Given the description of an element on the screen output the (x, y) to click on. 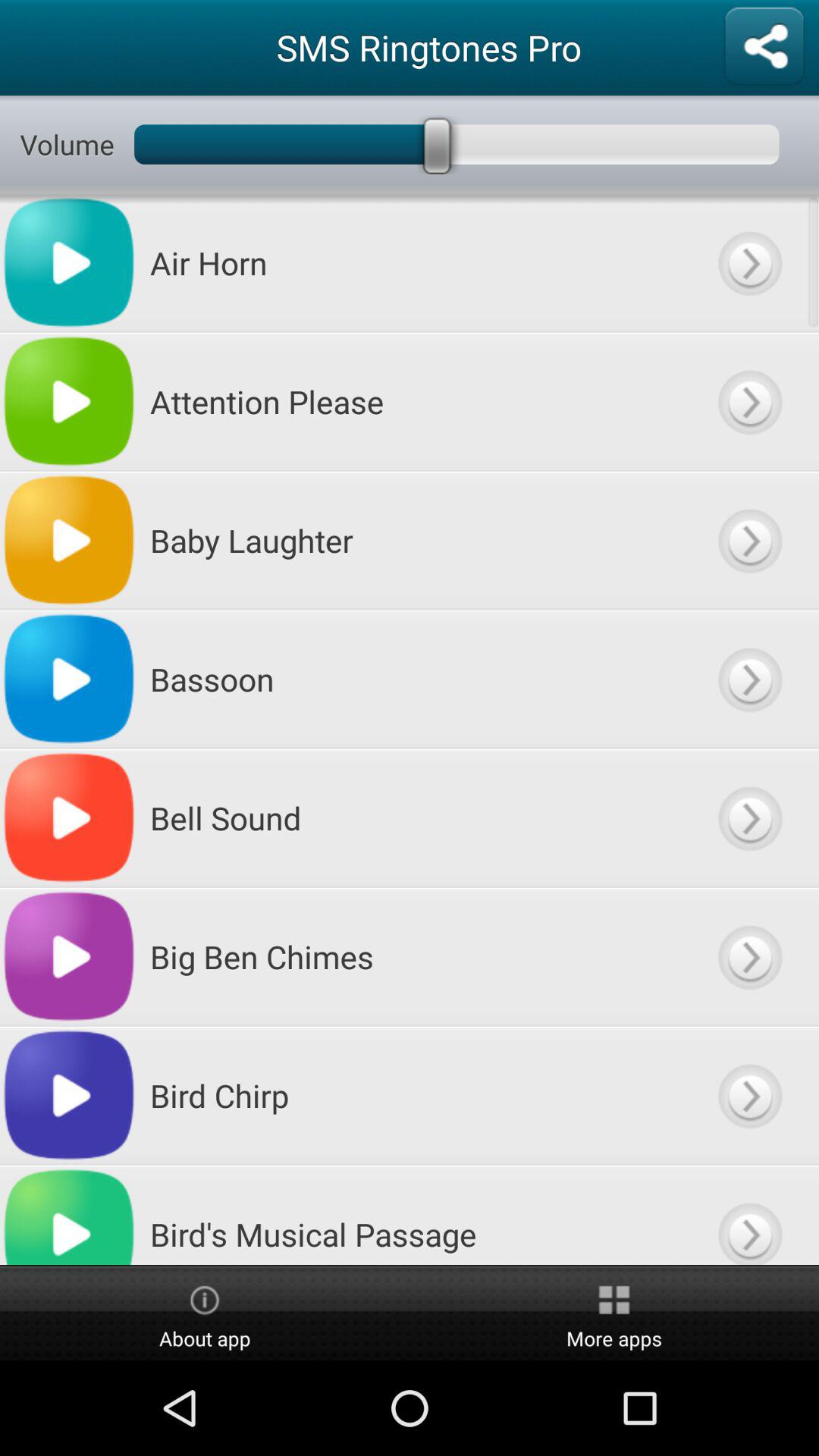
view more content (749, 1214)
